Given the description of an element on the screen output the (x, y) to click on. 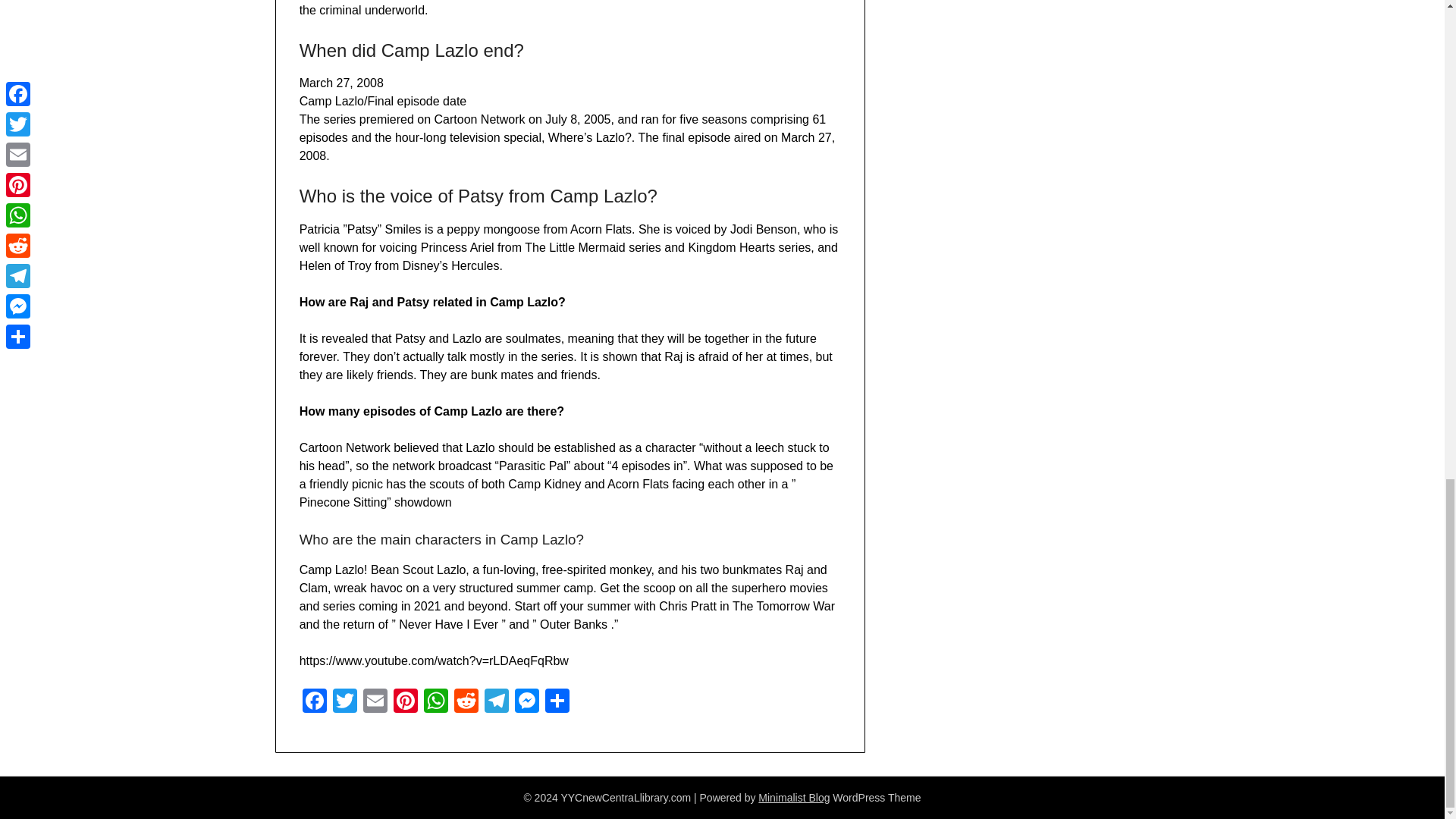
Telegram (496, 702)
Pinterest (405, 702)
Messenger (526, 702)
Twitter (344, 702)
Messenger (526, 702)
Pinterest (405, 702)
Email (374, 702)
Reddit (466, 702)
Reddit (466, 702)
Twitter (344, 702)
